Given the description of an element on the screen output the (x, y) to click on. 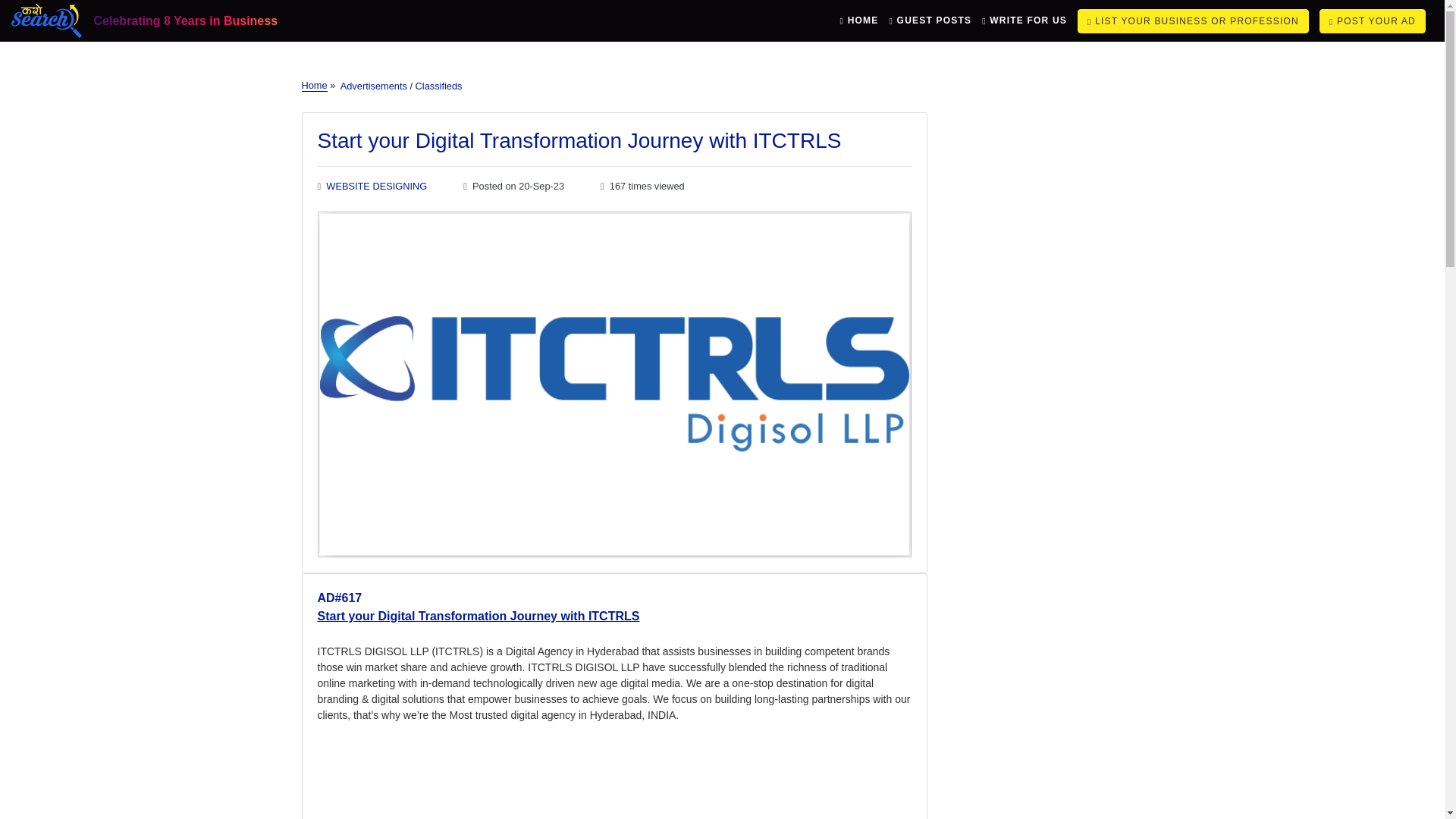
An Online Business Directory (46, 20)
POST YOUR AD (1372, 21)
Advertisement (614, 780)
LIST YOUR BUSINESS OR PROFESSION (1192, 21)
Home (314, 85)
WEBSITE DESIGNING (376, 185)
HOME (859, 20)
GUEST POSTS (929, 20)
  167 times viewed (641, 185)
  Posted on 20-Sep-23 (513, 185)
WEBSITE DESIGNING (376, 185)
WRITE FOR US (1024, 20)
